Given the description of an element on the screen output the (x, y) to click on. 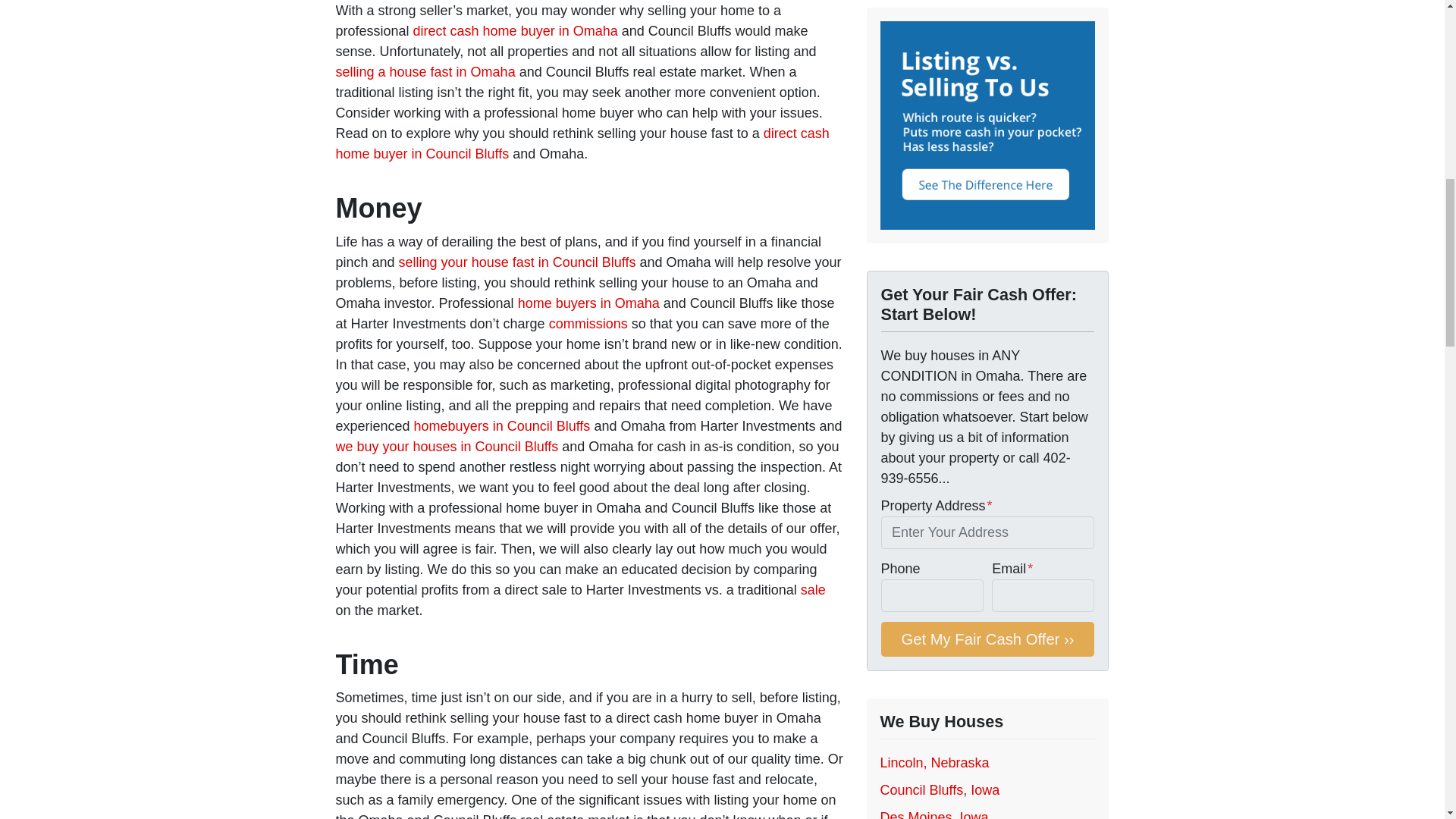
selling your house fast in Council Bluffs (517, 262)
homebuyers in Council Bluffs (502, 426)
commissions (587, 323)
selling a house fast in Omaha (424, 71)
sale (812, 589)
home buyers in Omaha (588, 303)
direct cash home buyer in Council Bluffs (581, 143)
we buy your houses in Council Bluffs (445, 446)
direct cash home buyer in Omaha (515, 30)
